Given the description of an element on the screen output the (x, y) to click on. 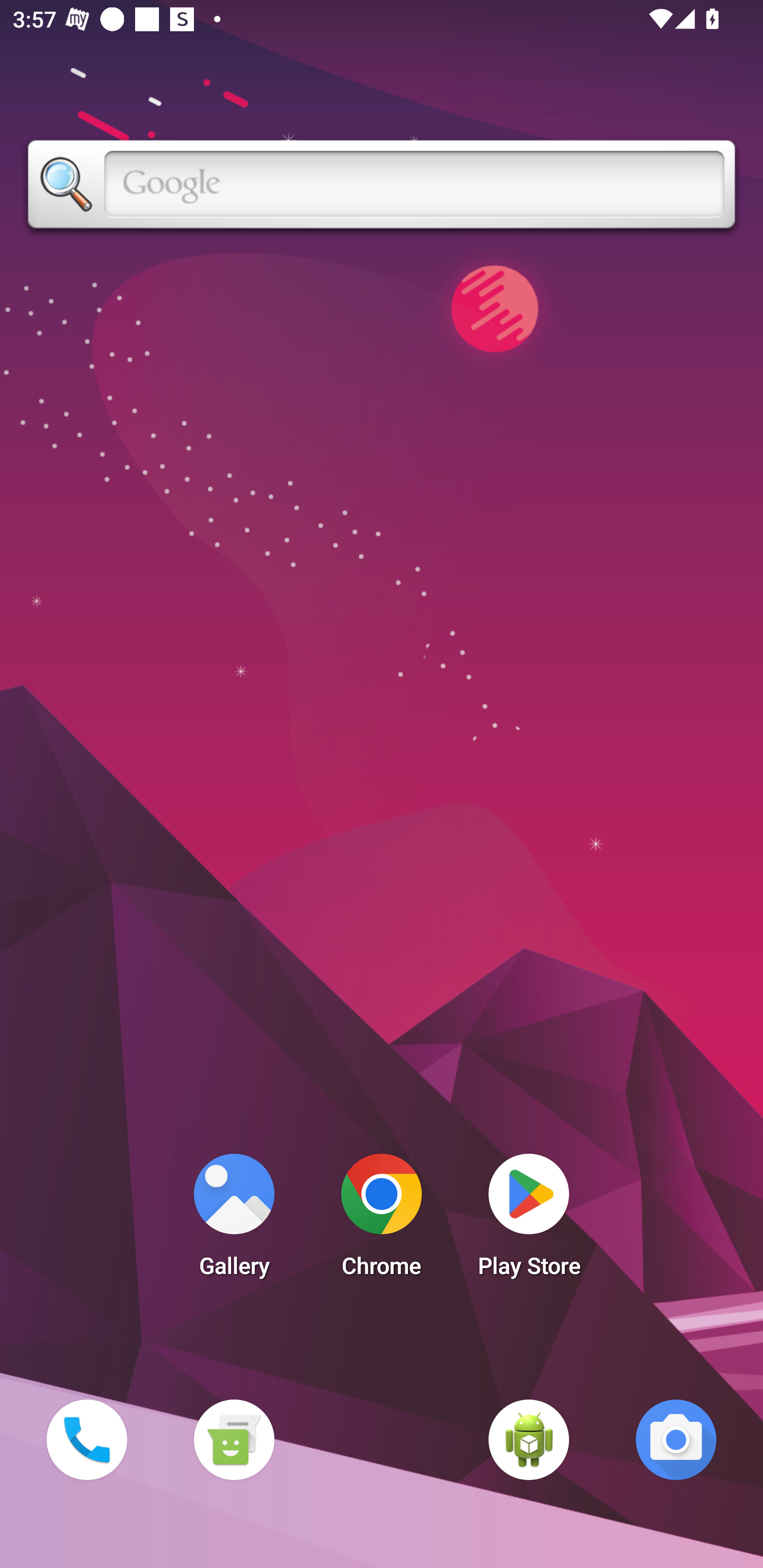
Gallery (233, 1220)
Chrome (381, 1220)
Play Store (528, 1220)
Phone (86, 1439)
Messaging (233, 1439)
WebView Browser Tester (528, 1439)
Camera (676, 1439)
